Given the description of an element on the screen output the (x, y) to click on. 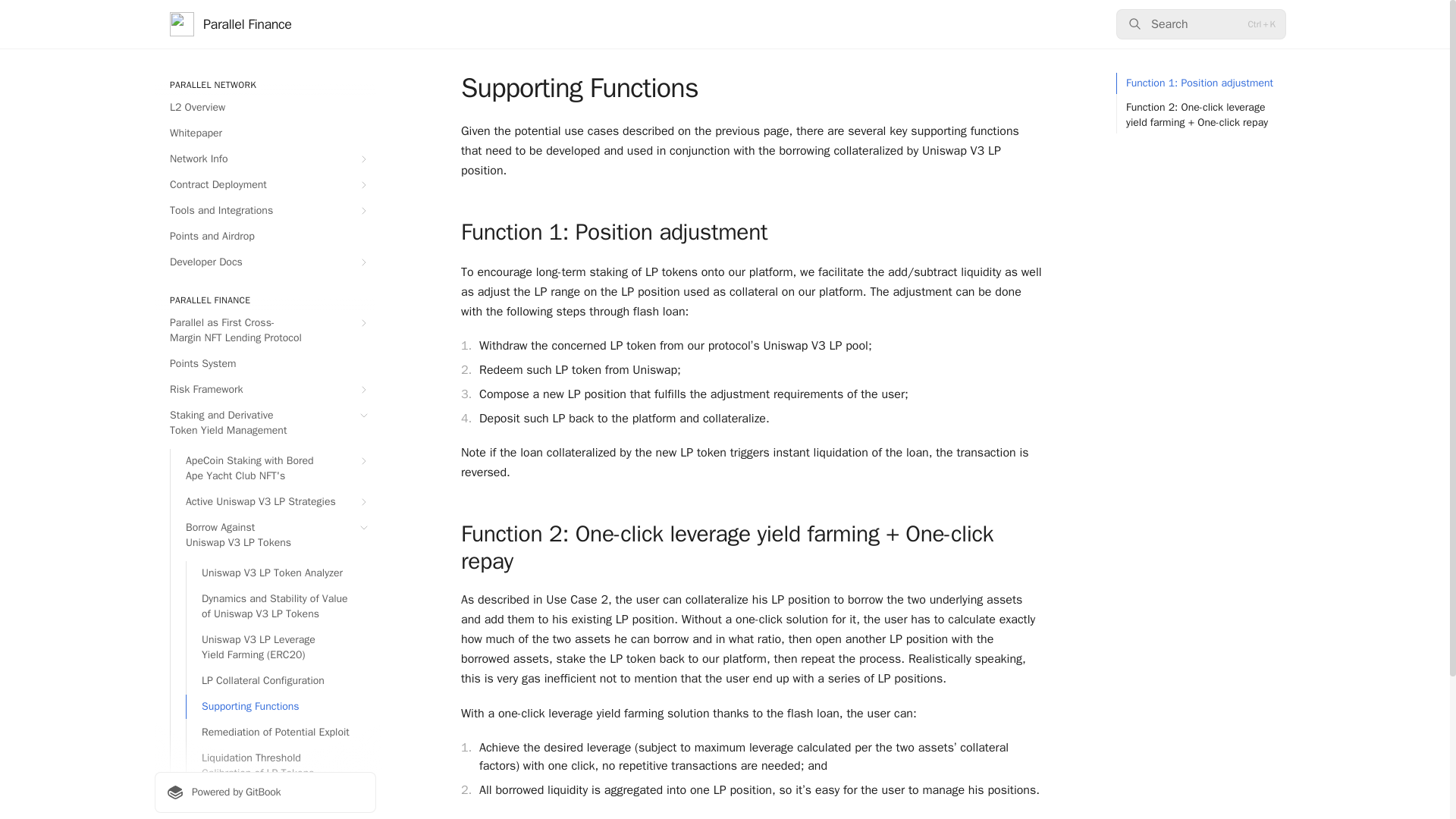
L2 Overview (264, 107)
Whitepaper (264, 133)
Contract Deployment (264, 184)
Risk Framework (264, 389)
Developer Docs (264, 262)
Network Info (264, 159)
Parallel as First Cross-Margin NFT Lending Protocol (264, 330)
Points System (264, 363)
Points and Airdrop (264, 236)
Tools and Integrations (264, 210)
Parallel Finance (230, 24)
